Given the description of an element on the screen output the (x, y) to click on. 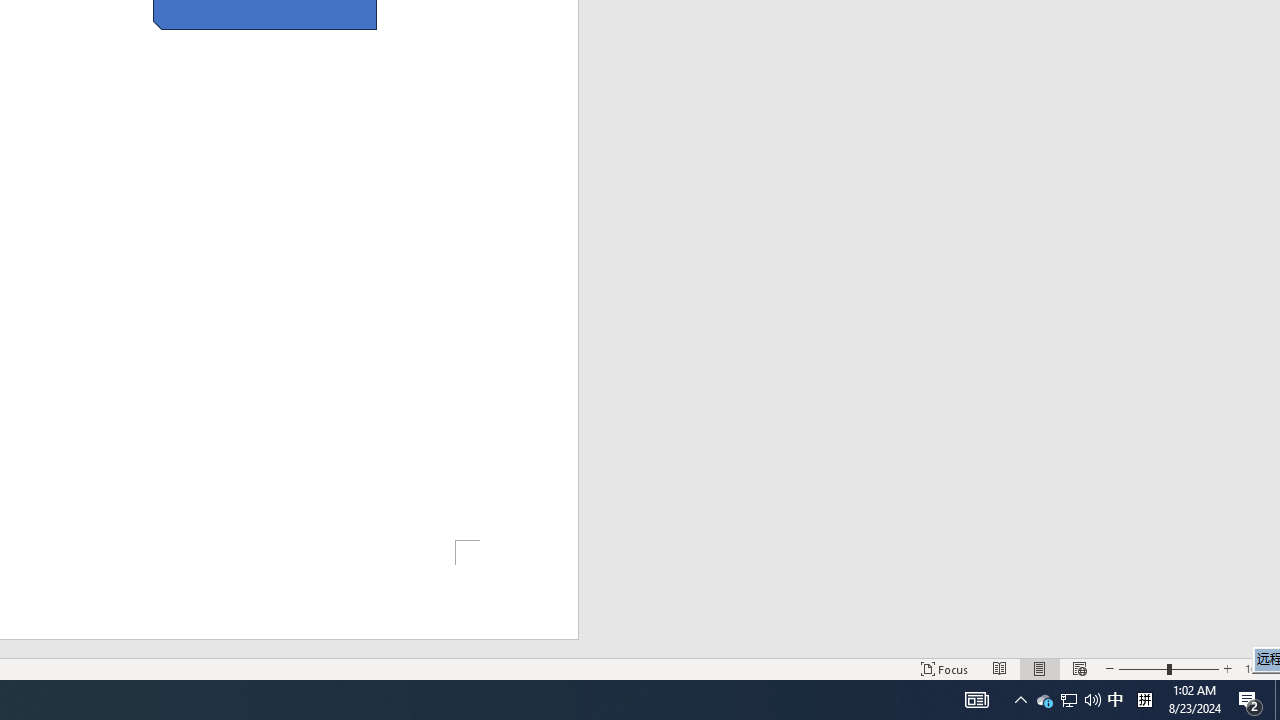
Zoom 104% (1258, 668)
